Given the description of an element on the screen output the (x, y) to click on. 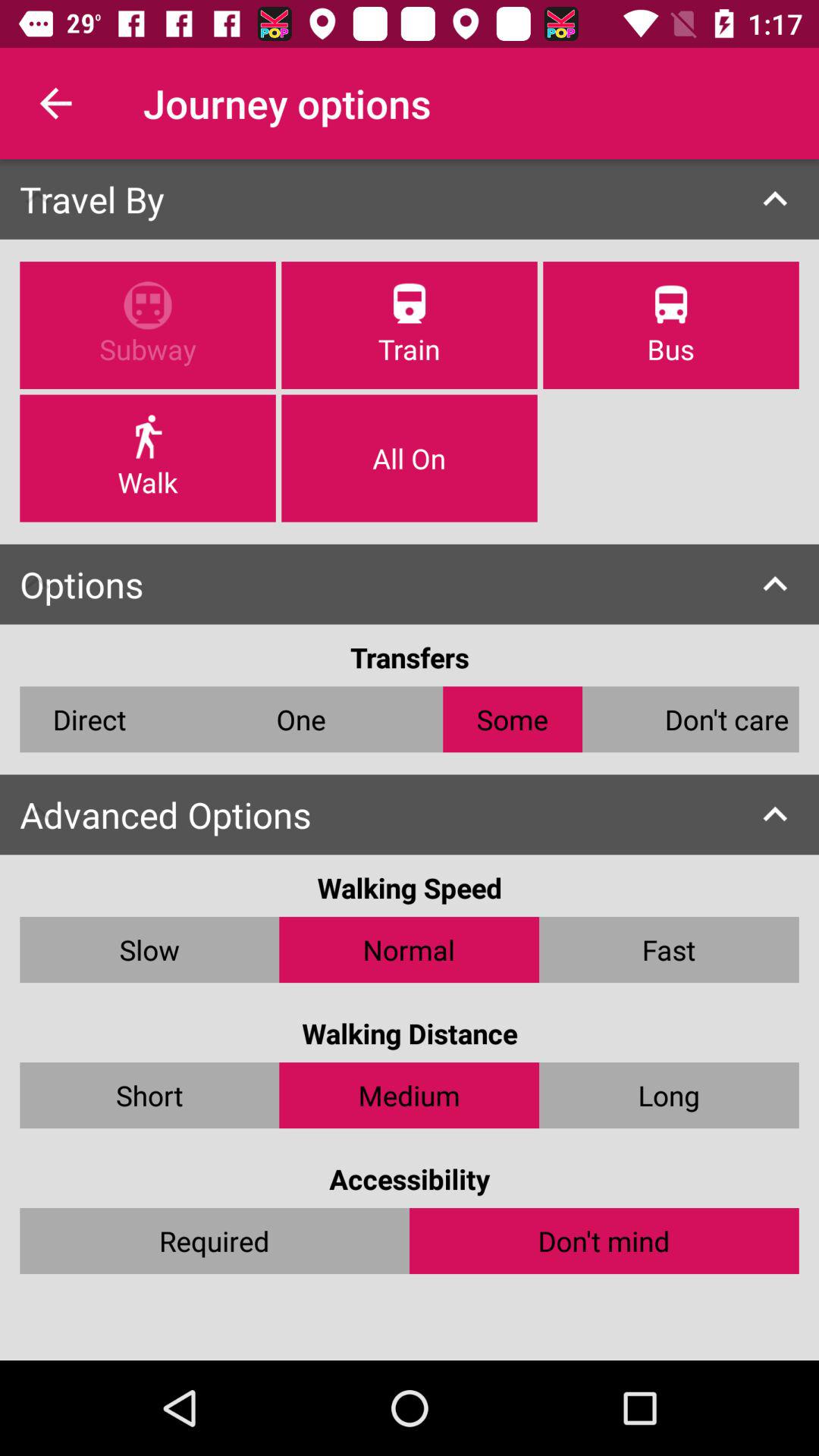
flip to the normal (409, 949)
